Given the description of an element on the screen output the (x, y) to click on. 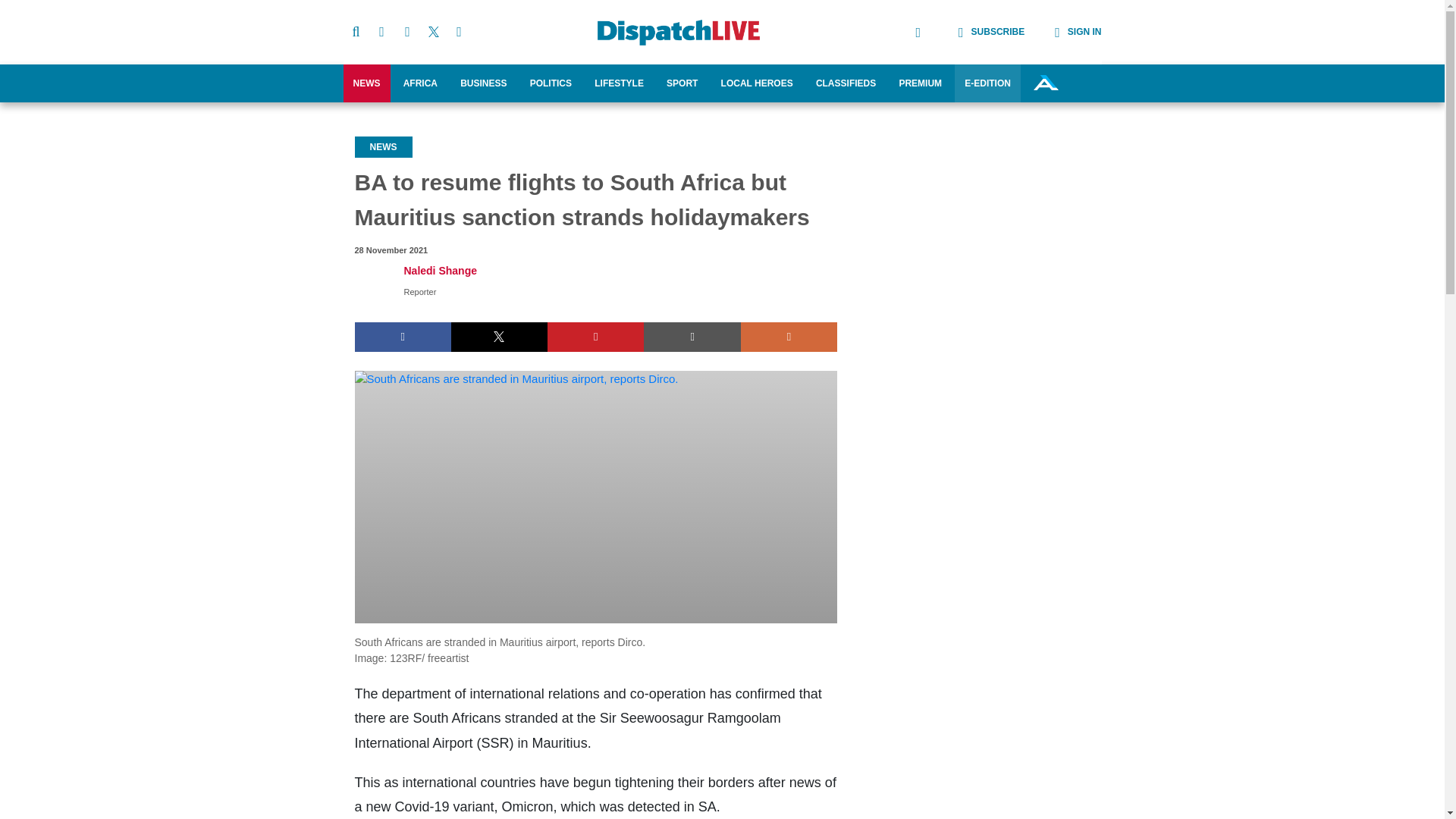
SIGN IN (1062, 32)
NEWS (366, 83)
SUBSCRIBE (976, 32)
BUSINESS (482, 83)
LIFESTYLE (619, 83)
PREMIUM (920, 83)
SPORT (681, 83)
CLASSIFIEDS (845, 83)
AFRICA (419, 83)
E-EDITION (987, 83)
